Given the description of an element on the screen output the (x, y) to click on. 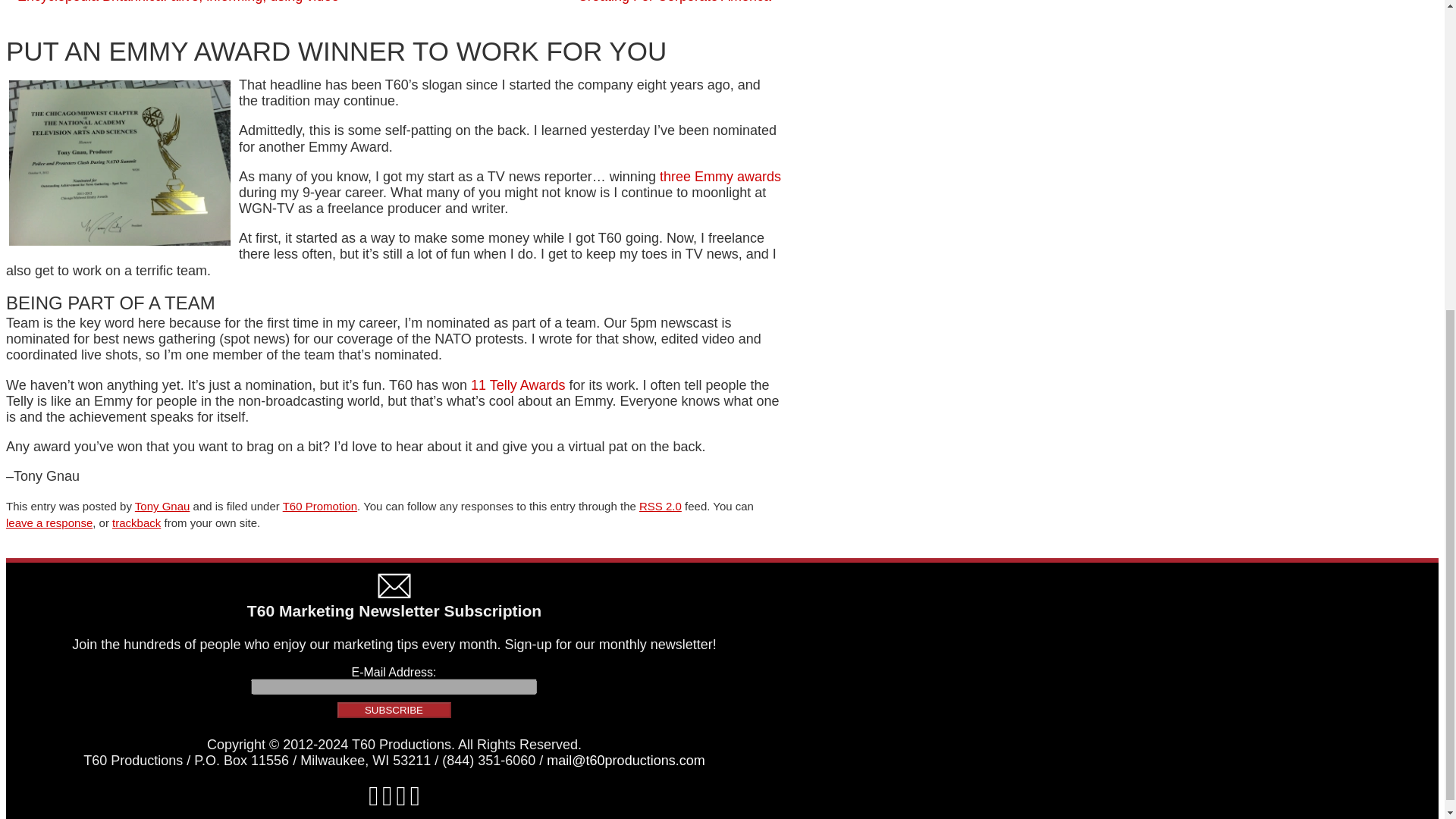
Creating For Corporate America (674, 2)
trackback (136, 522)
11 Telly Awards (517, 385)
T60 Promotion (319, 505)
three Emmy awards (719, 176)
Tony Gnau (162, 505)
RSS 2.0 (660, 505)
PUT AN EMMY AWARD WINNER TO WORK FOR YOU (335, 51)
Encyclopedia Britannica: alive, informing, using video (178, 2)
Permanent Link: Put An Emmy Award Winner To Work For You (335, 51)
leave a response (49, 522)
